Given the description of an element on the screen output the (x, y) to click on. 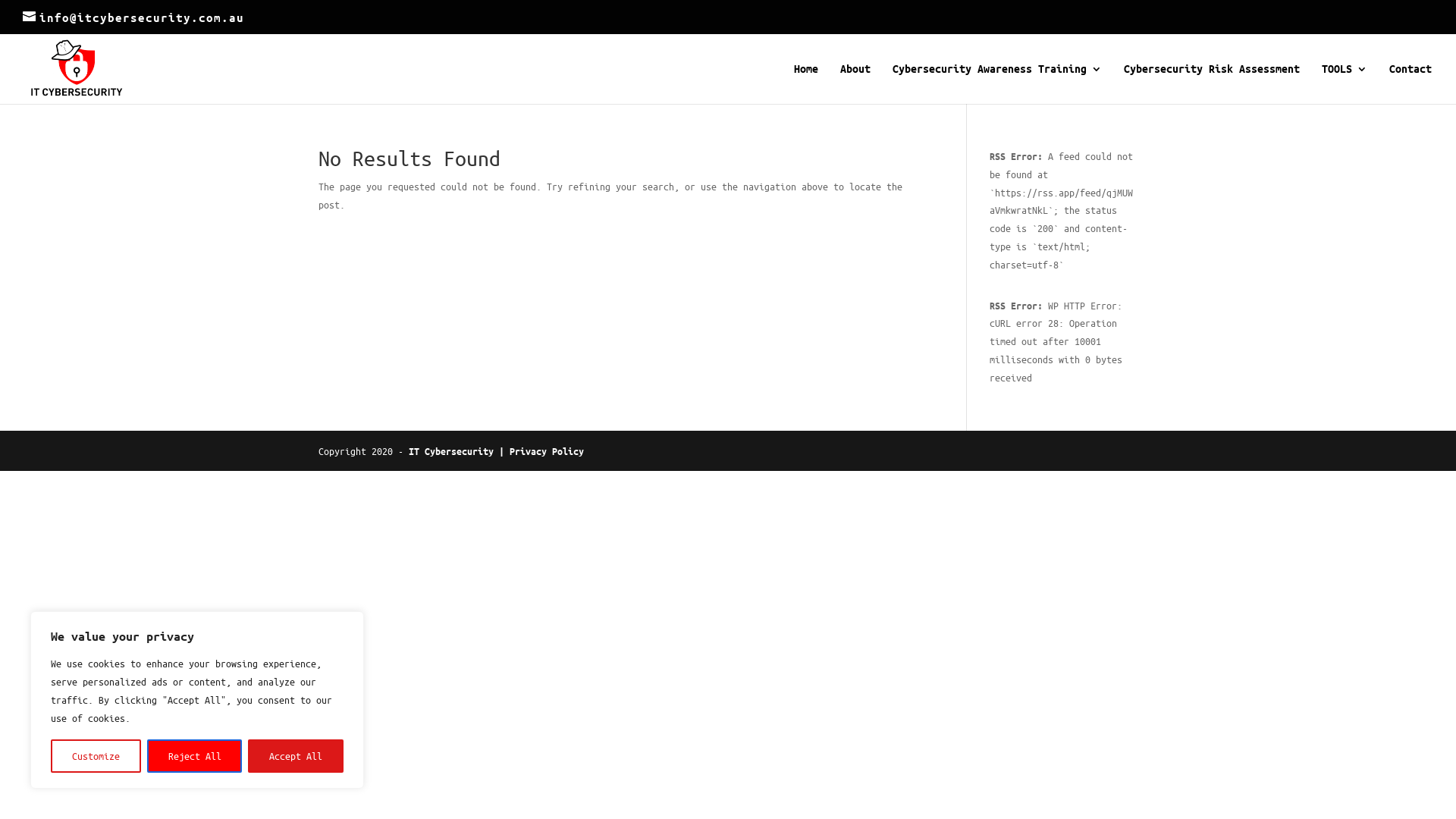
Cybersecurity Risk Assessment Element type: text (1211, 83)
Contact Element type: text (1410, 83)
Accept All Element type: text (295, 755)
TOOLS Element type: text (1344, 83)
Reject All Element type: text (194, 755)
Home Element type: text (805, 83)
info@itcybersecurity.com.au Element type: text (133, 17)
Privacy Policy Element type: text (546, 450)
About Element type: text (855, 83)
Cybersecurity Awareness Training Element type: text (996, 83)
IT Cybersecurity | Element type: text (458, 450)
Customize Element type: text (95, 755)
